Given the description of an element on the screen output the (x, y) to click on. 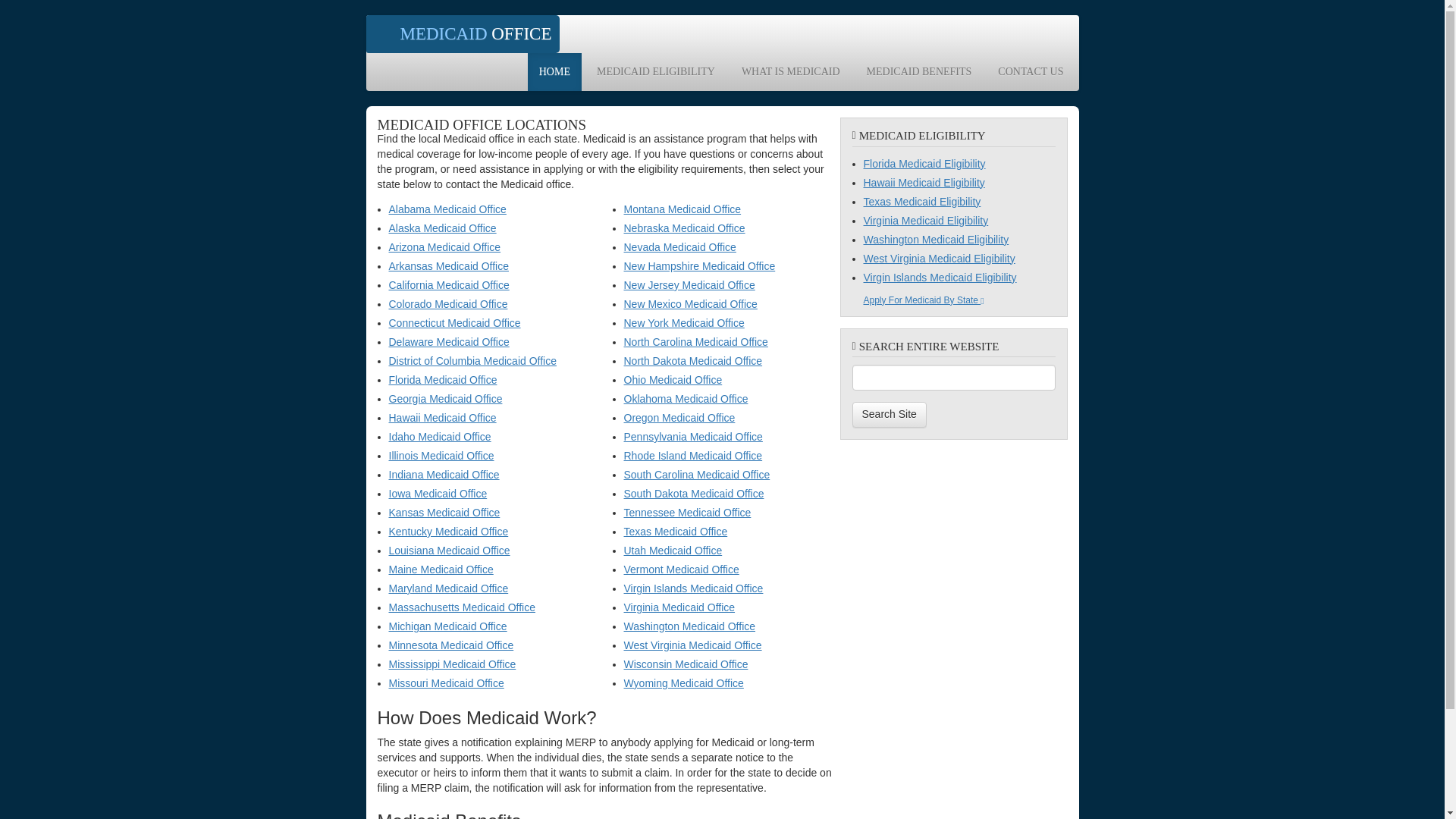
WHAT IS MEDICAID (790, 71)
Colorado Medicaid Office (447, 304)
Georgia Medicaid Office (445, 398)
Indiana Medicaid Office (443, 474)
CONTACT US (1030, 71)
Missouri Medicaid Office (445, 683)
Arizona Medicaid Office (444, 246)
Illinois Medicaid Office (440, 455)
MEDICAID OFFICE (462, 34)
District of Columbia Medicaid Office (472, 360)
Iowa Medicaid Office (437, 493)
Montana Medicaid Office (682, 209)
Nevada Medicaid Office (679, 246)
New Hampshire Medicaid Office (698, 265)
Kentucky Medicaid Office (448, 531)
